Given the description of an element on the screen output the (x, y) to click on. 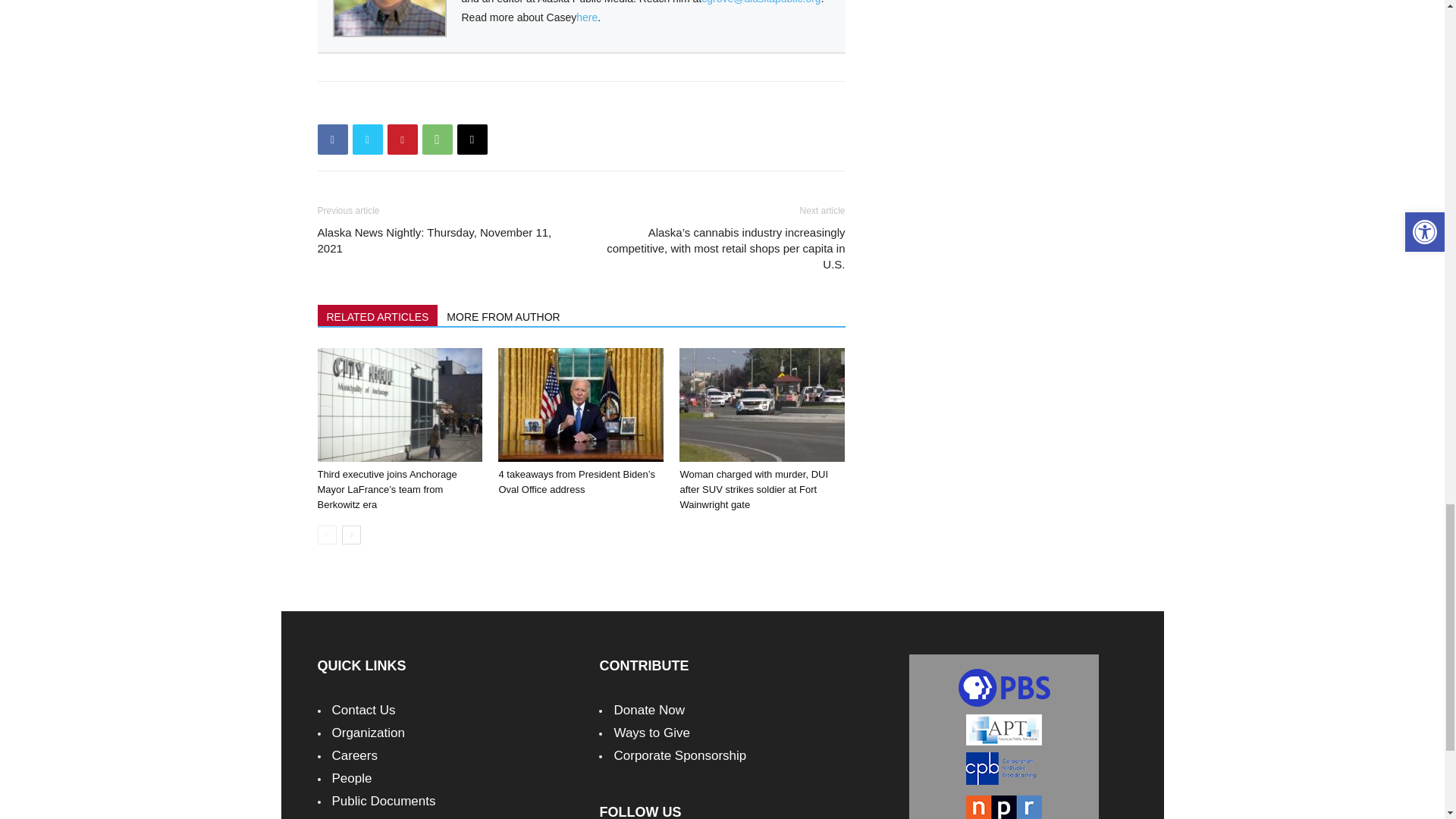
Email (471, 139)
Pinterest (401, 139)
bottomFacebookLike (430, 105)
Facebook (332, 139)
WhatsApp (436, 139)
Twitter (366, 139)
